Given the description of an element on the screen output the (x, y) to click on. 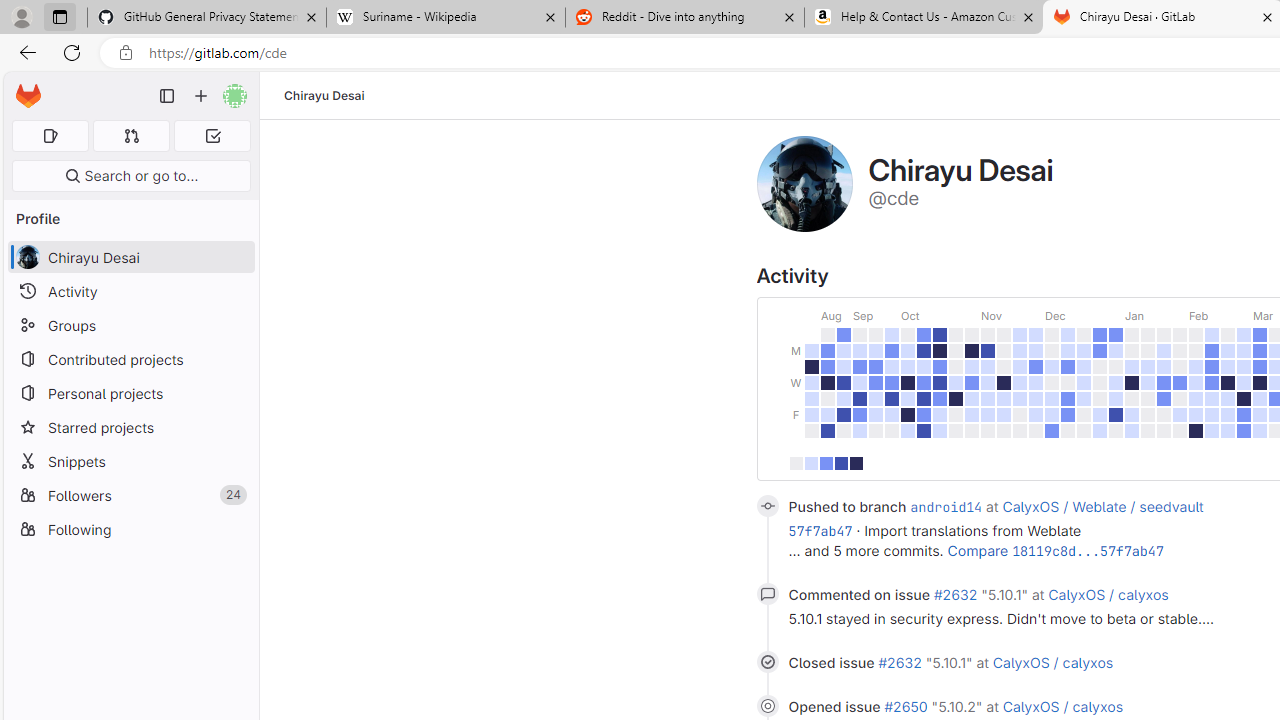
android14 (946, 507)
Create new... (201, 96)
Primary navigation sidebar (167, 96)
